Given the description of an element on the screen output the (x, y) to click on. 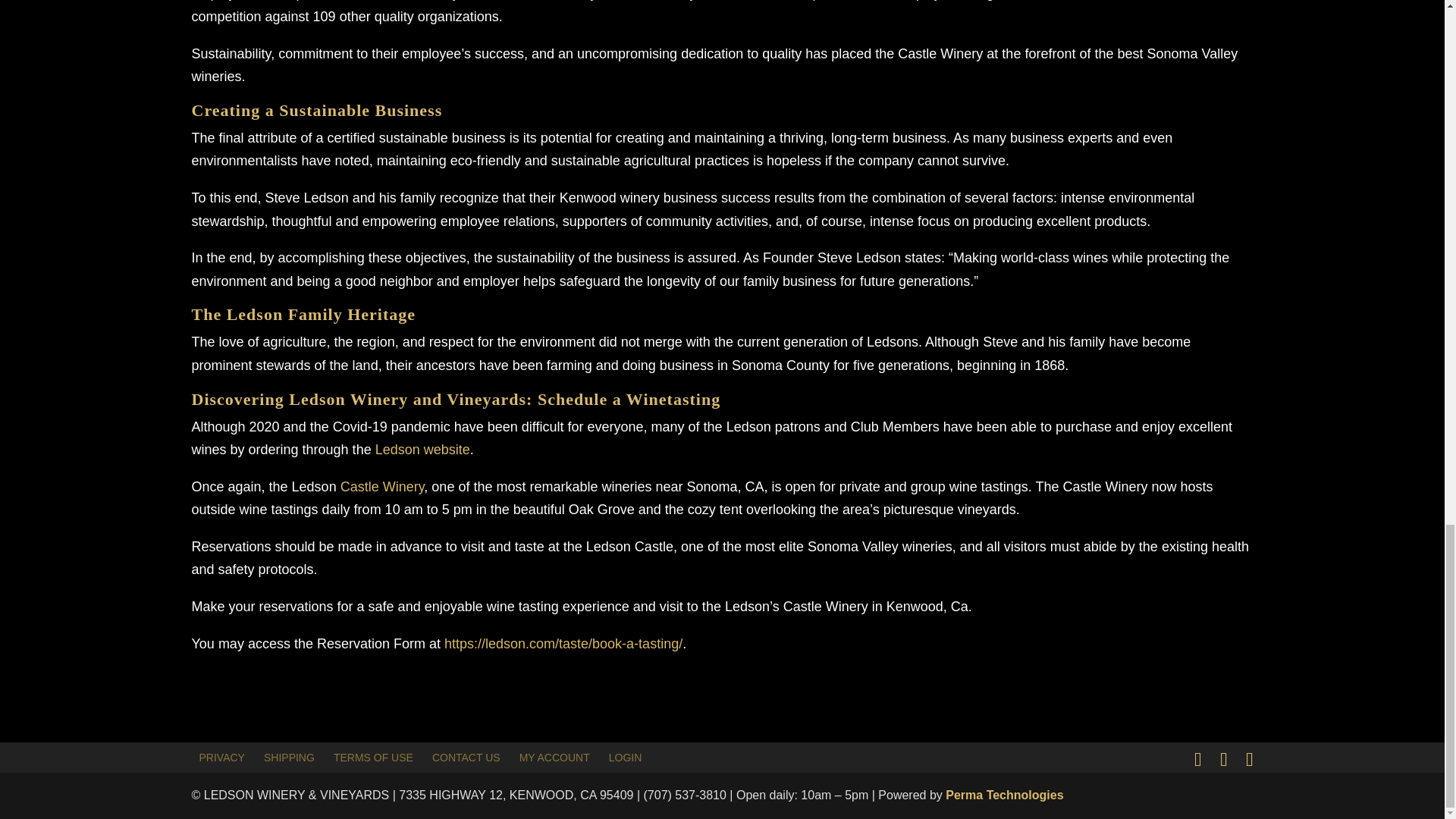
Castle Winery (382, 486)
Ledson website (422, 449)
PRIVACY (220, 757)
